Given the description of an element on the screen output the (x, y) to click on. 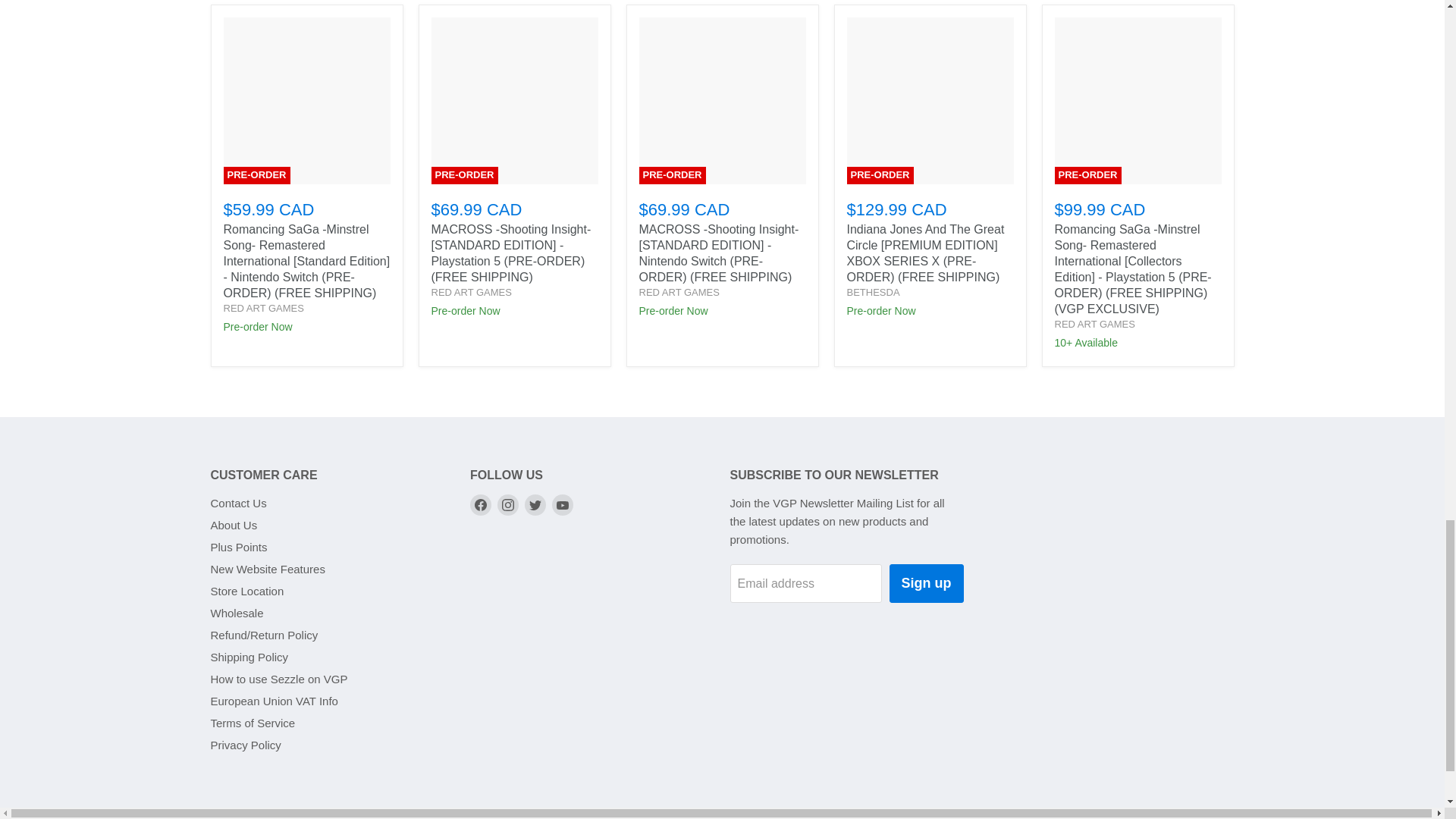
Twitter (535, 504)
RED ART GAMES (1094, 324)
BETHESDA (872, 292)
Facebook (481, 504)
RED ART GAMES (679, 292)
Instagram (507, 504)
RED ART GAMES (470, 292)
YouTube (562, 504)
RED ART GAMES (262, 307)
